Given the description of an element on the screen output the (x, y) to click on. 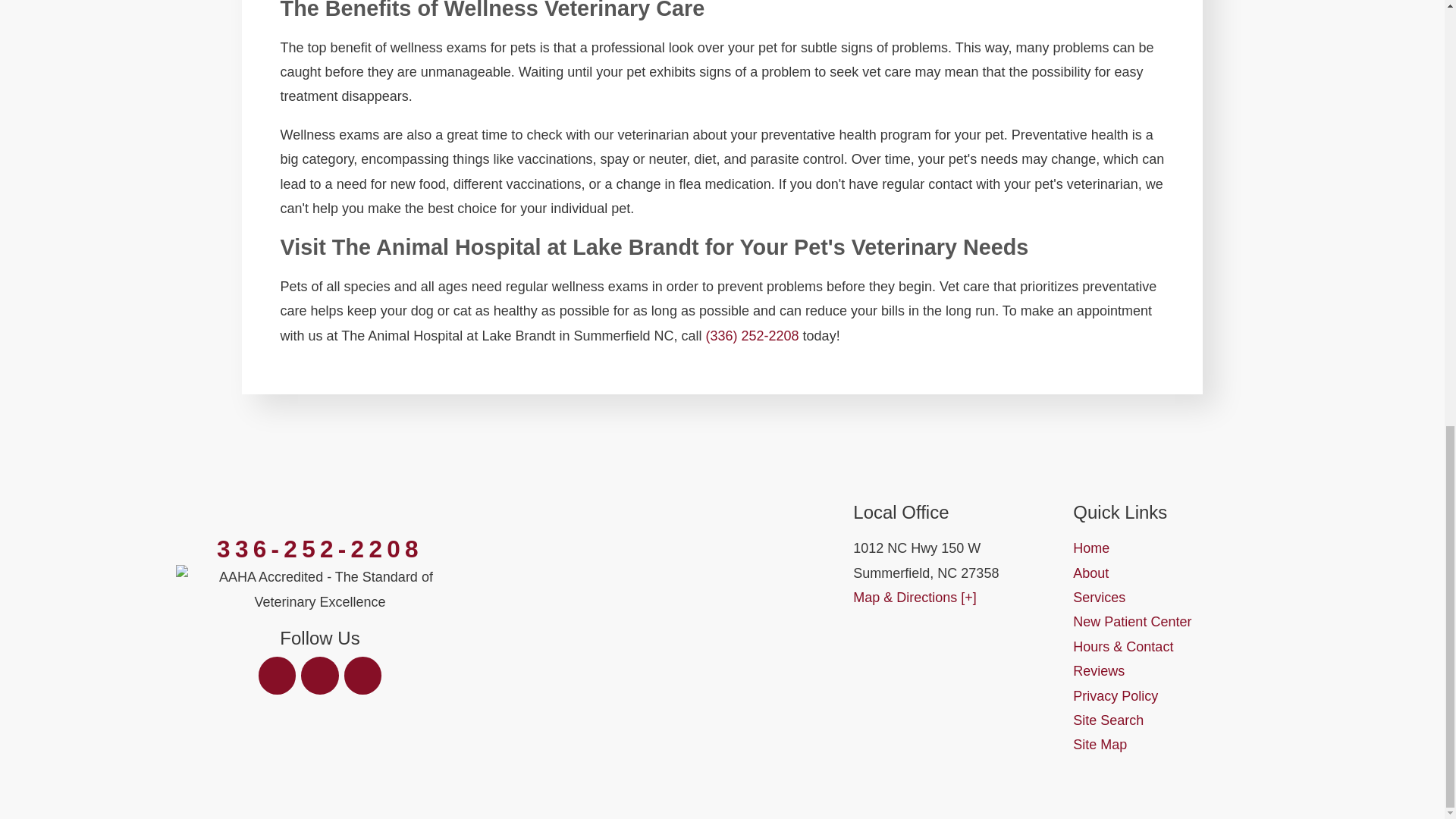
Twitter (320, 675)
YouTube (362, 675)
Facebook (278, 675)
